Given the description of an element on the screen output the (x, y) to click on. 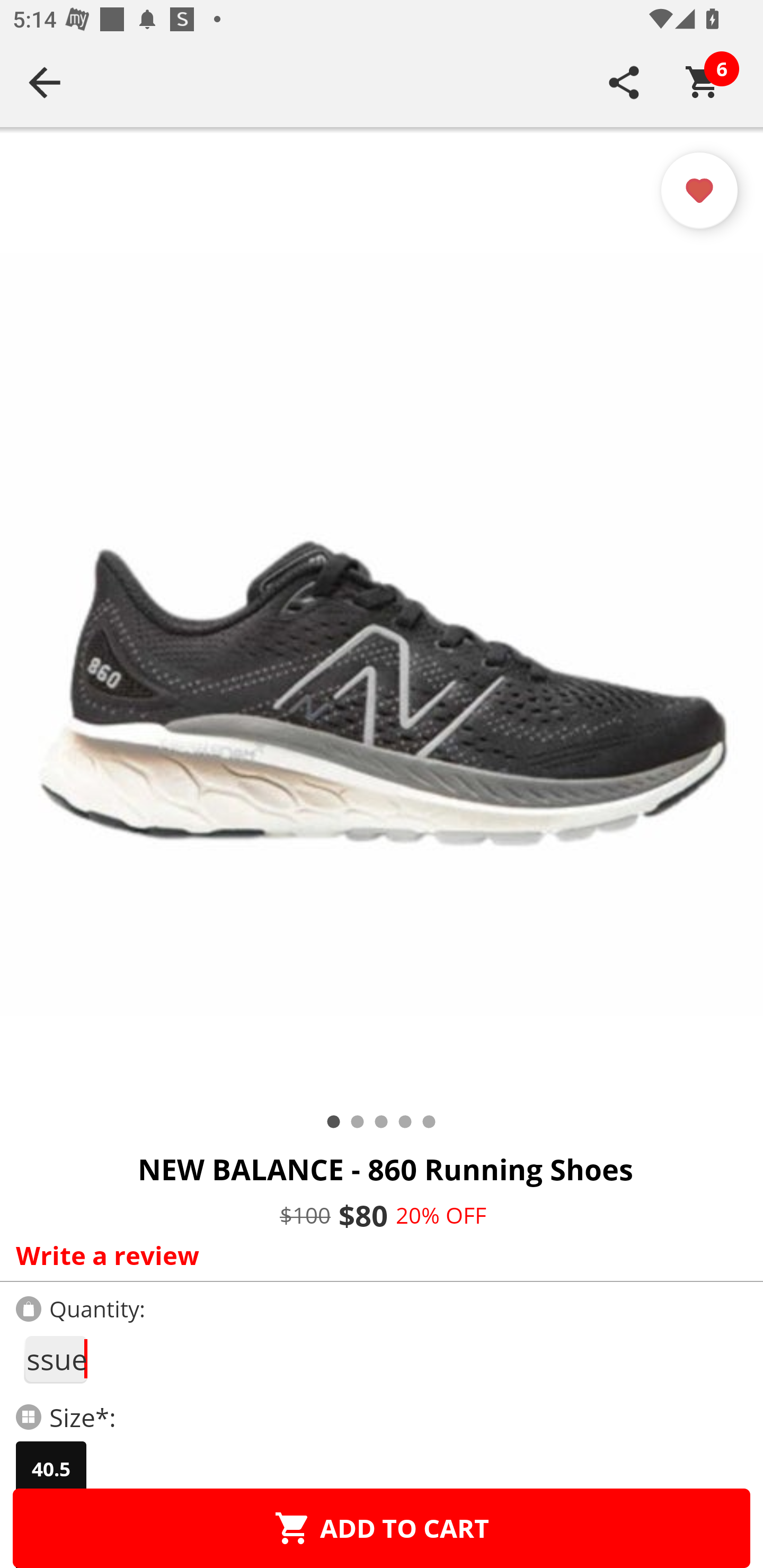
Navigate up (44, 82)
SHARE (623, 82)
Cart (703, 81)
Write a review (377, 1255)
1tissue (55, 1358)
40.5 (51, 1468)
ADD TO CART (381, 1528)
